Given the description of an element on the screen output the (x, y) to click on. 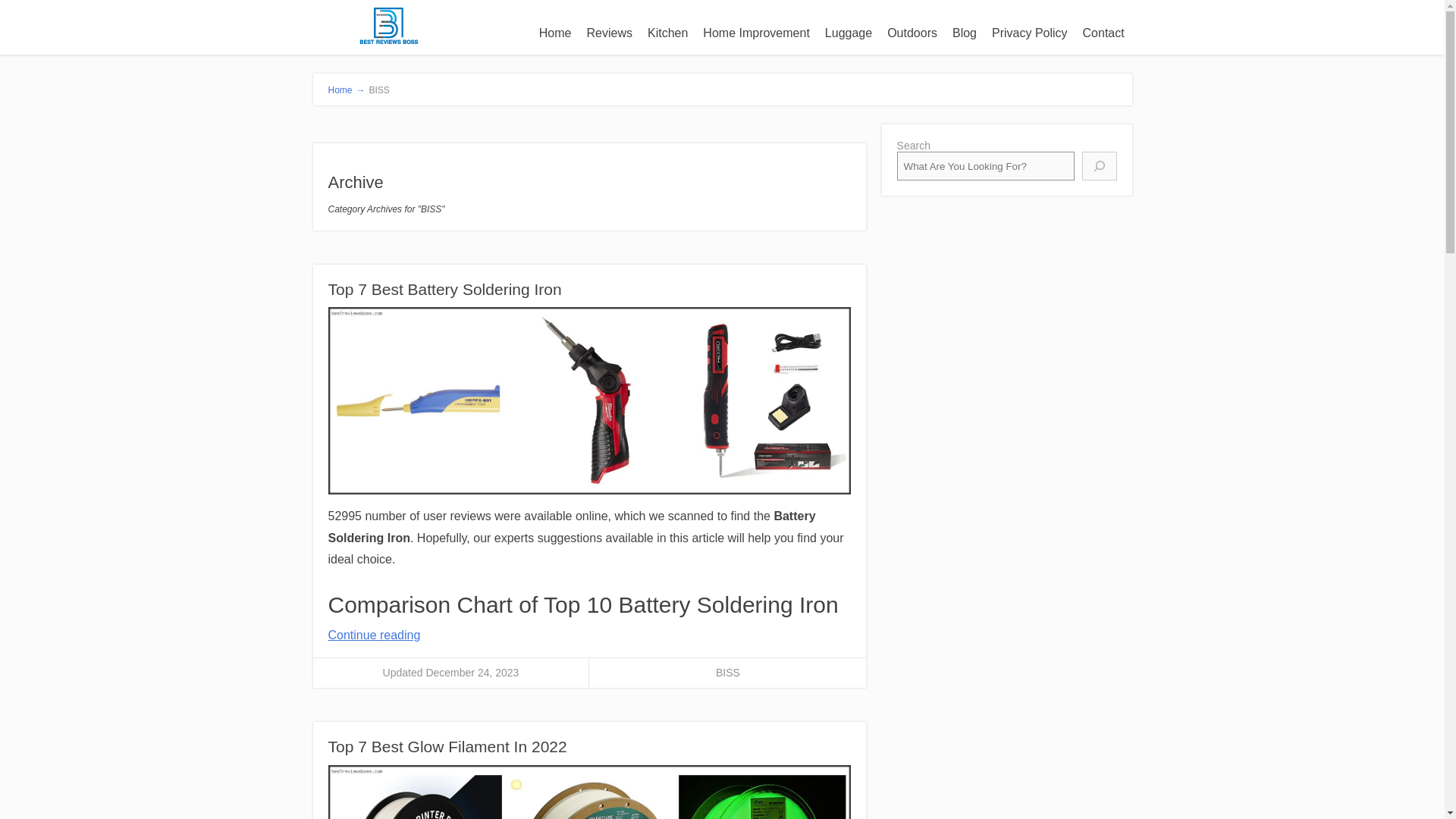
Top 7 Best Battery Soldering Iron (443, 289)
Reviews (609, 32)
Continue reading (373, 634)
Outdoors (911, 32)
BISS (727, 672)
Luggage (847, 32)
Kitchen (667, 32)
Blog (964, 32)
Top 7 Best Glow Filament In 2022 (446, 746)
Home (555, 32)
